Given the description of an element on the screen output the (x, y) to click on. 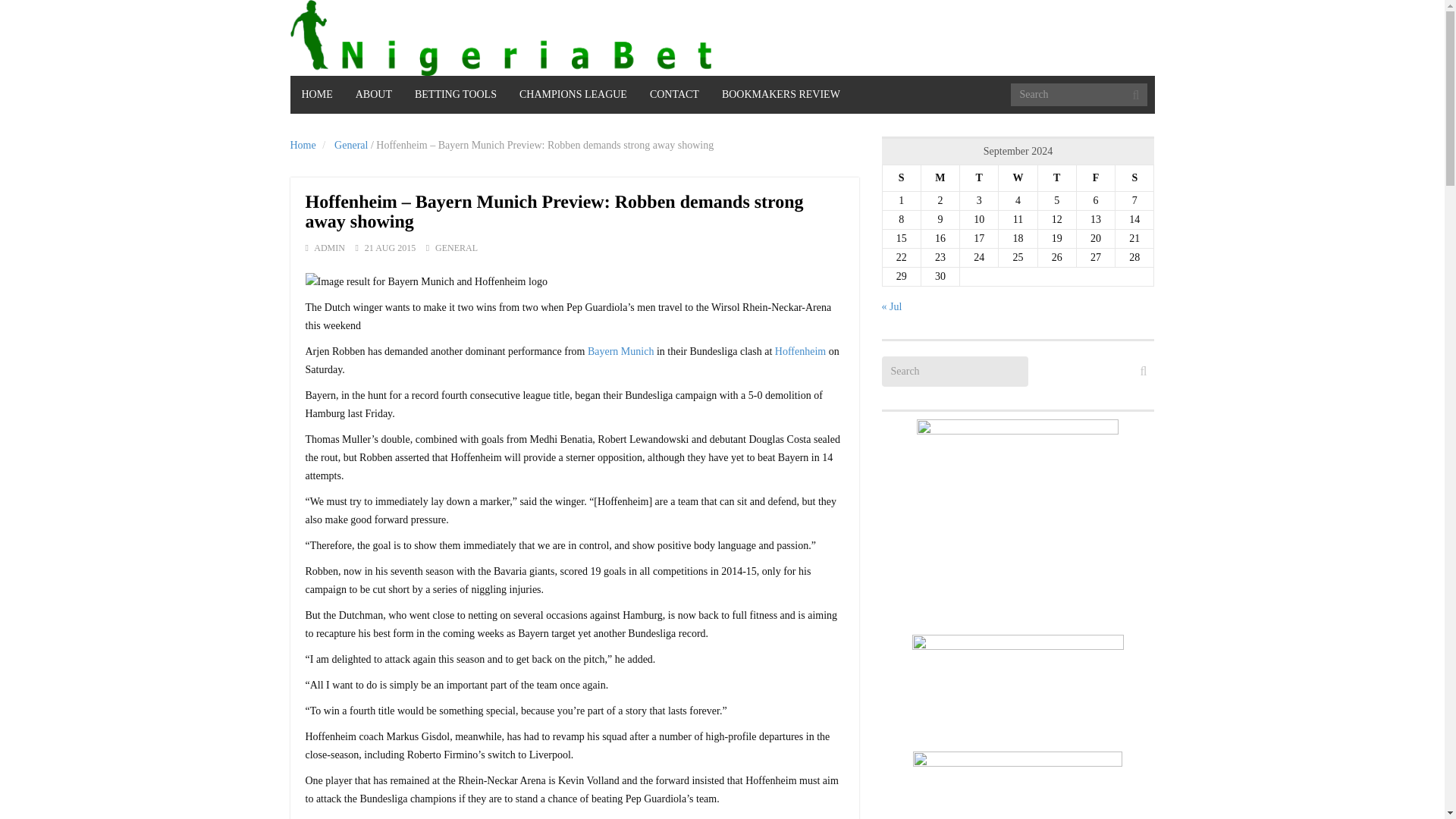
Thursday (1055, 178)
Sunday (901, 178)
Home (302, 144)
Monday (939, 178)
CHAMPIONS LEAGUE (573, 94)
CONTACT (674, 94)
Wednesday (1017, 178)
Friday (1095, 178)
General (351, 144)
ADMIN (329, 247)
